Given the description of an element on the screen output the (x, y) to click on. 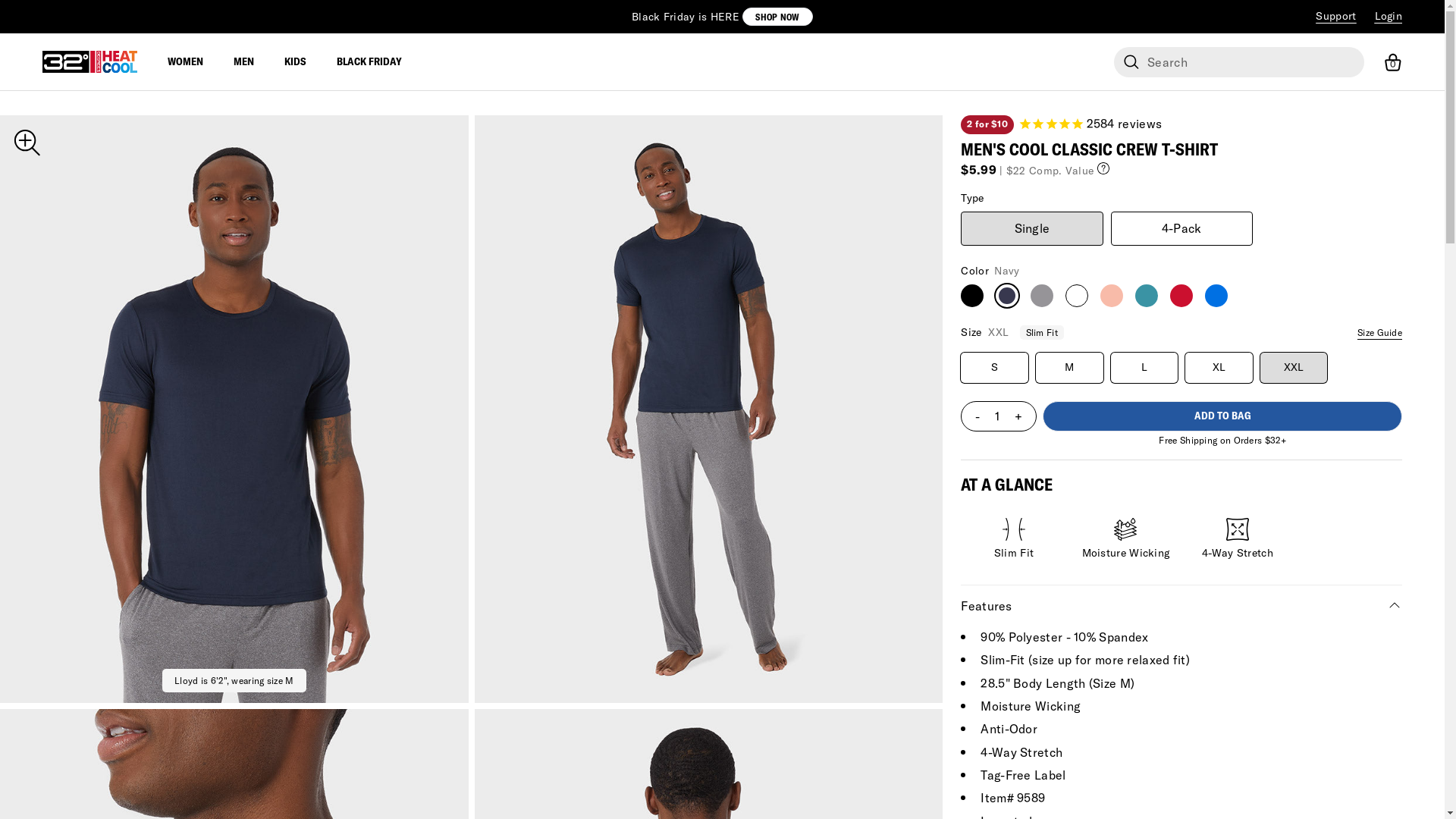
KIDS Element type: text (295, 61)
+ Element type: text (1018, 415)
Support Element type: text (1335, 15)
Size Guide Element type: text (1379, 332)
SHOP NOW Element type: text (777, 16)
BLACK FRIDAY Element type: text (368, 61)
0 Element type: text (1392, 62)
MEN Element type: text (243, 61)
Single Element type: text (1031, 228)
Login Element type: text (1388, 15)
ADD TO BAG Element type: text (1222, 416)
4-Pack Element type: text (1181, 228)
WOMEN Element type: text (185, 61)
- Element type: text (977, 415)
